Given the description of an element on the screen output the (x, y) to click on. 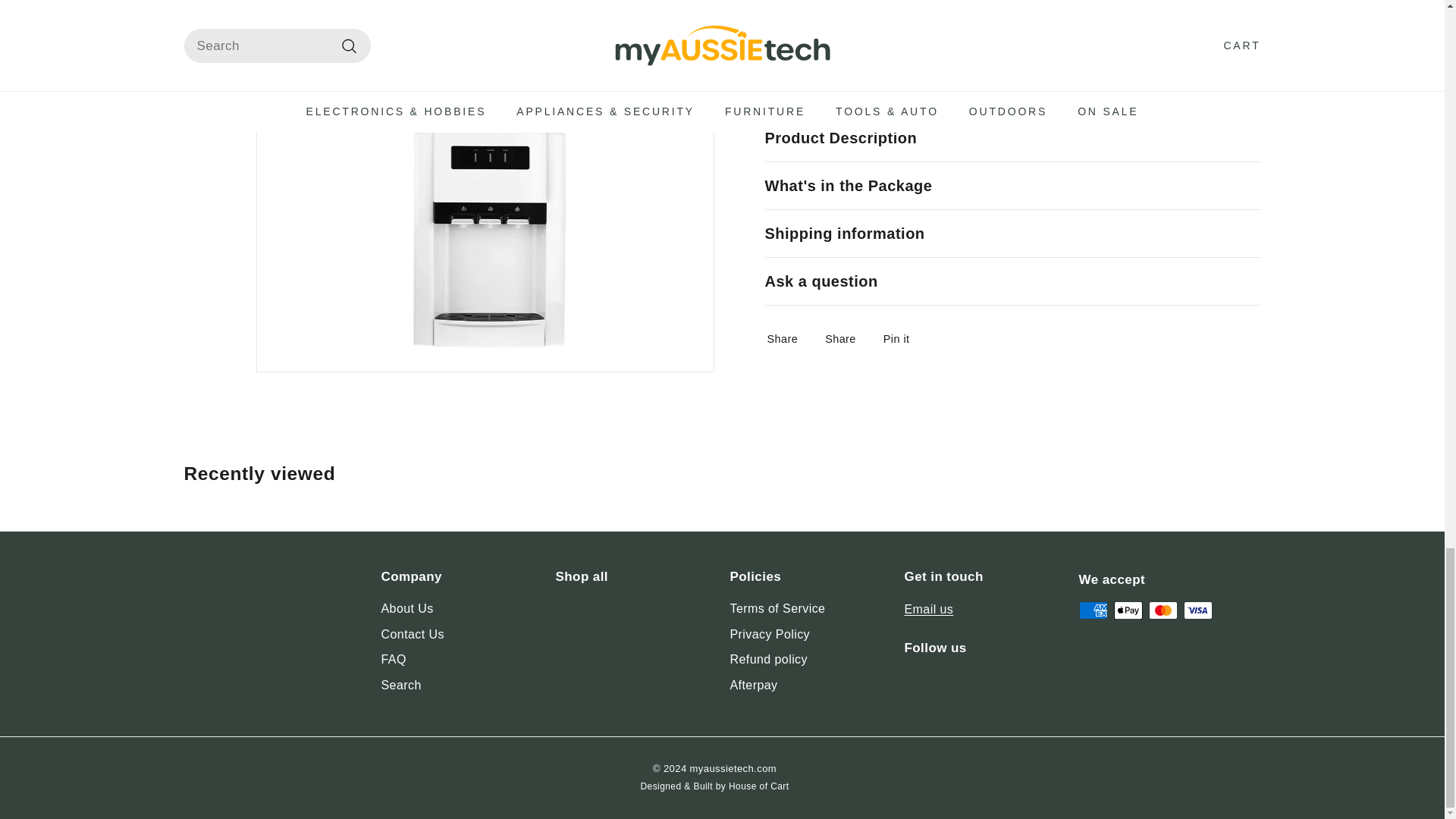
American Express (1092, 610)
Mastercard (1162, 610)
Visa (1196, 610)
Share on Facebook (786, 338)
Pin on Pinterest (900, 338)
Apple Pay (1127, 610)
Tweet on Twitter (844, 338)
